Given the description of an element on the screen output the (x, y) to click on. 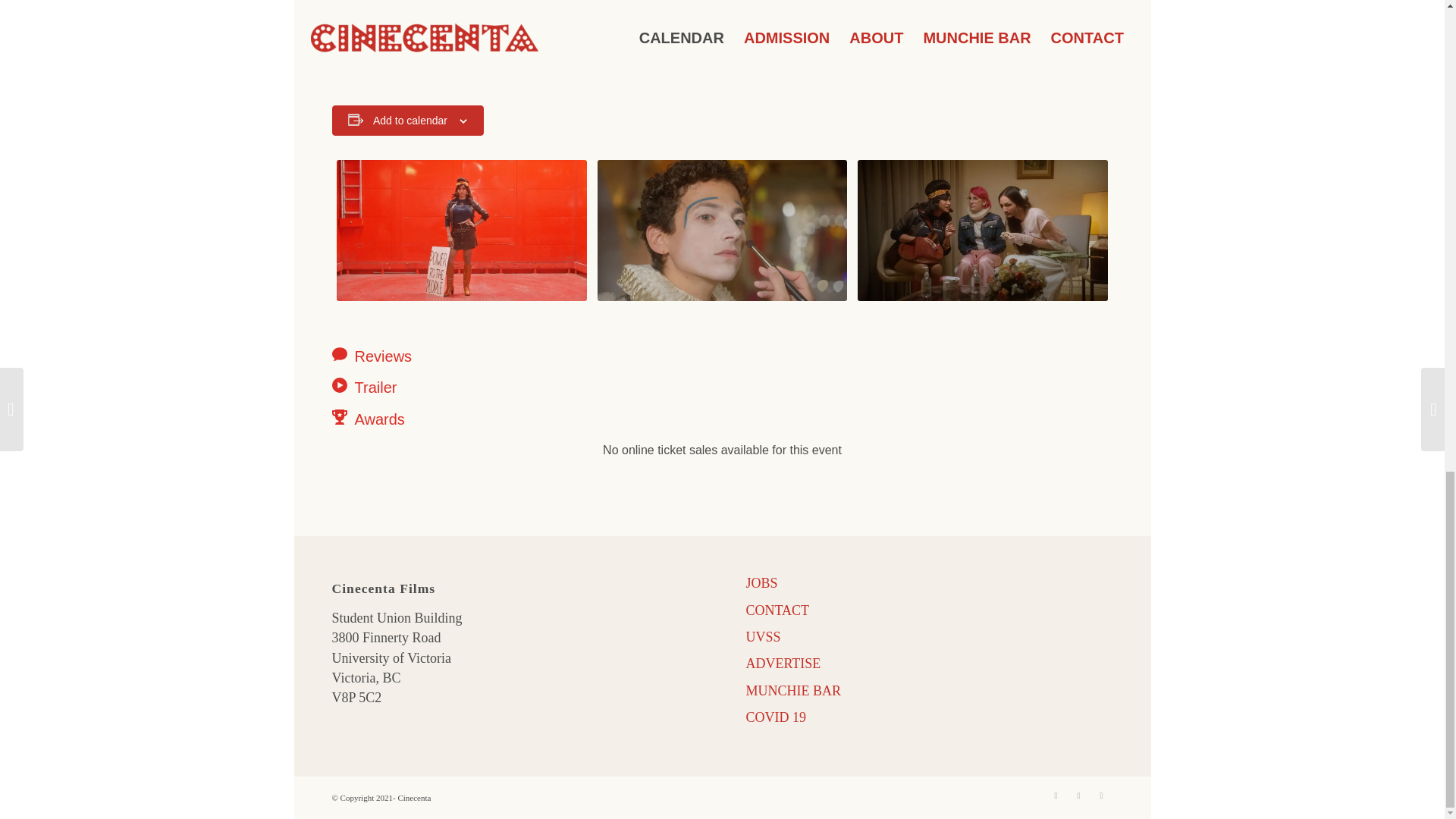
Awards (448, 419)
Add to calendar (409, 120)
Orlando, My Political Biography, 2023 (721, 229)
Reviews (448, 356)
Orlando, My Political Biography, 2023 (461, 229)
Trailer (448, 387)
